Given the description of an element on the screen output the (x, y) to click on. 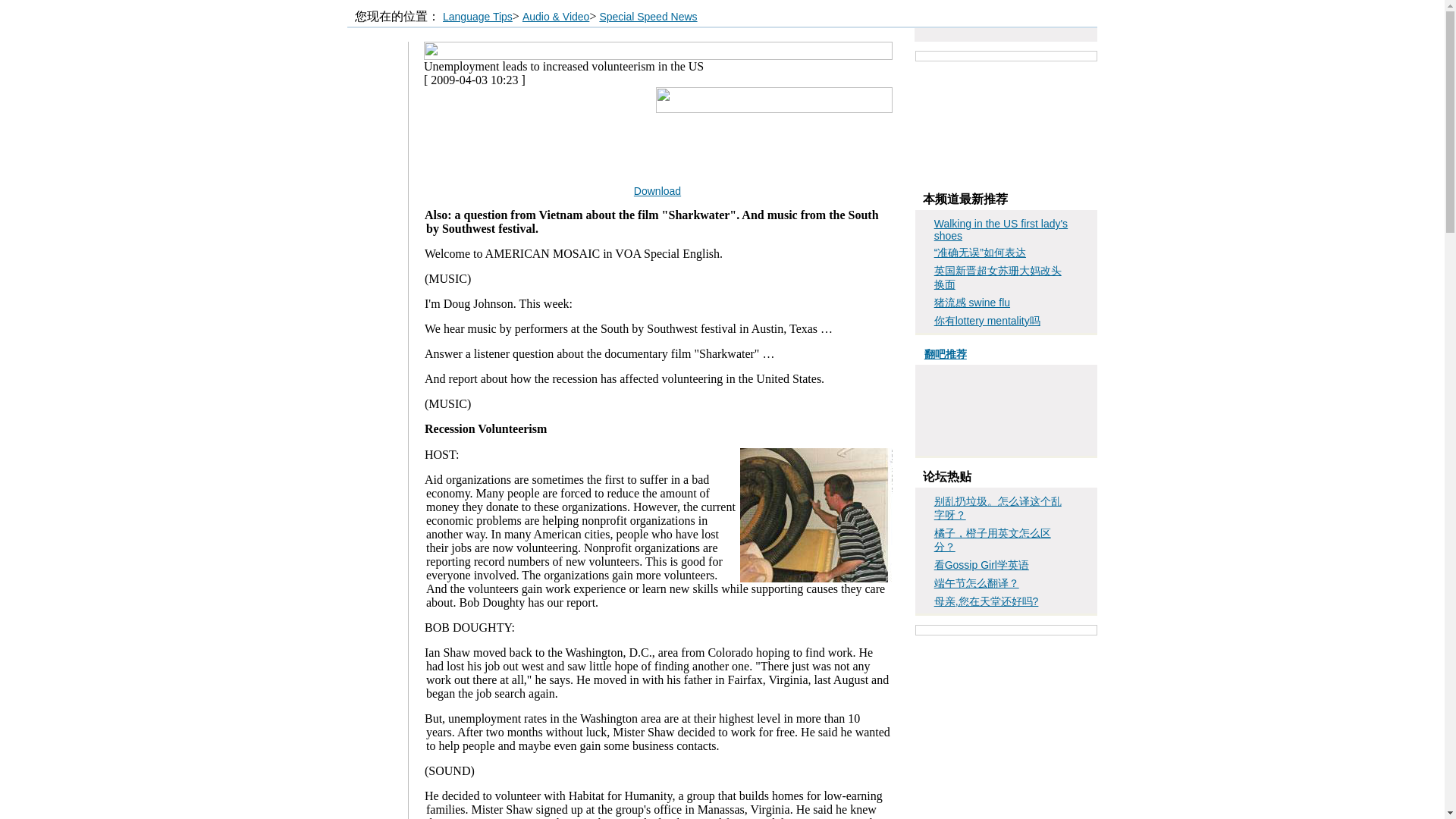
Language Tips (477, 16)
Walking in the US first lady's shoes (1000, 229)
Special Speed News (647, 16)
Download (657, 191)
